Given the description of an element on the screen output the (x, y) to click on. 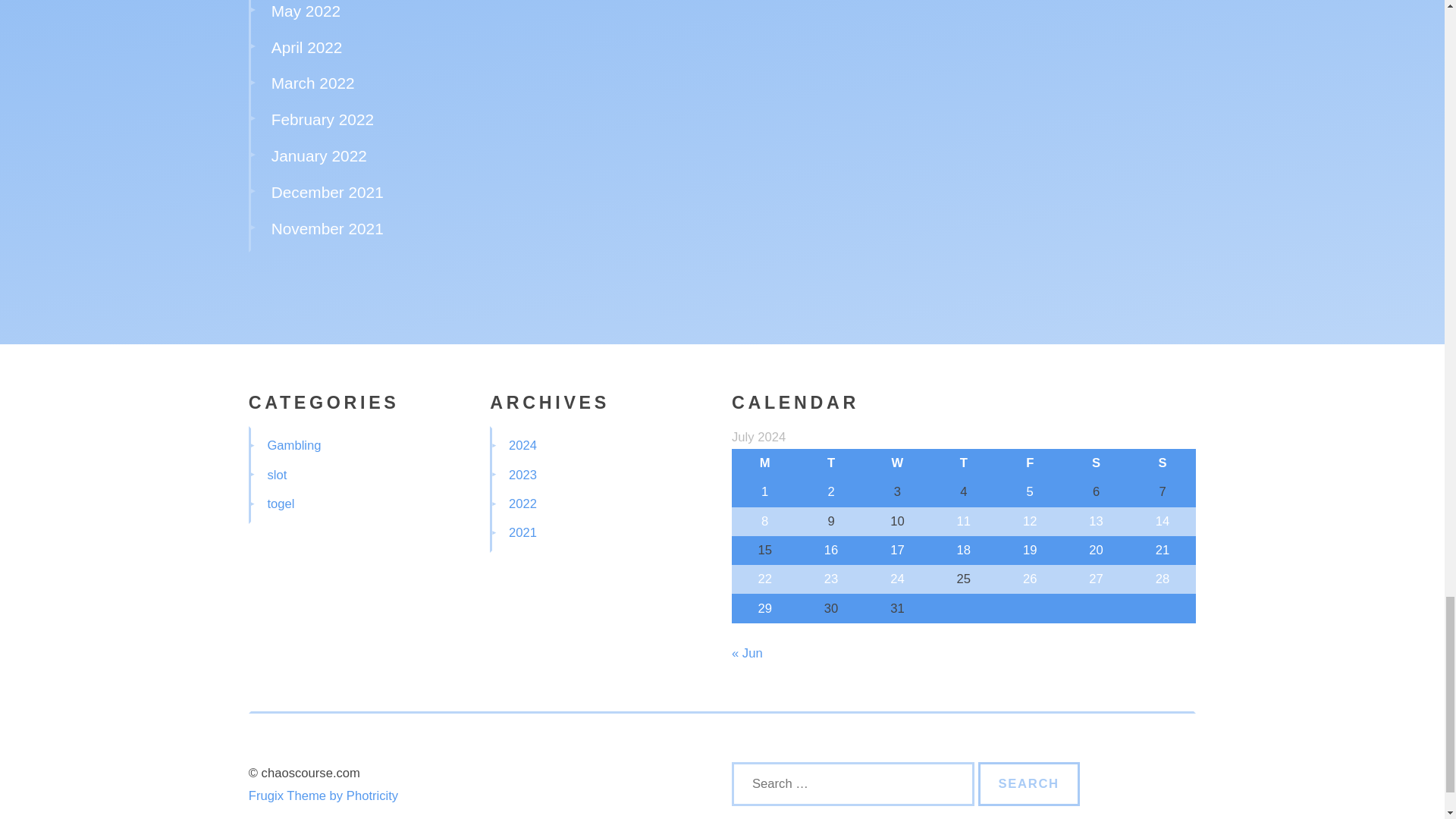
Tuesday (830, 462)
Wednesday (897, 462)
April 2022 (306, 46)
Search (1029, 783)
Search (1029, 783)
Thursday (962, 462)
Saturday (1095, 462)
Sunday (1162, 462)
Monday (764, 462)
Friday (1029, 462)
May 2022 (305, 10)
